Given the description of an element on the screen output the (x, y) to click on. 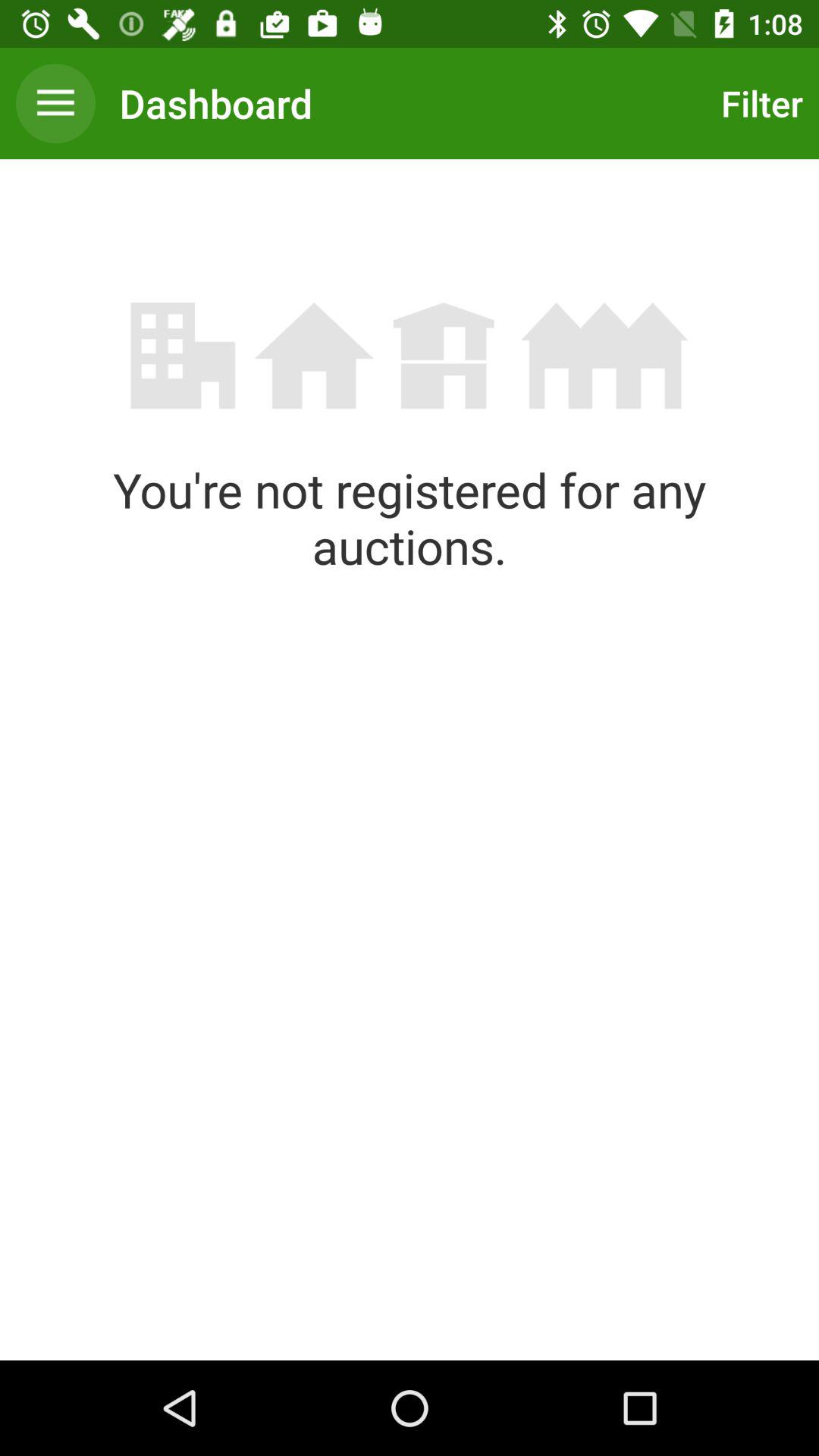
click the app next to dashboard item (758, 103)
